Given the description of an element on the screen output the (x, y) to click on. 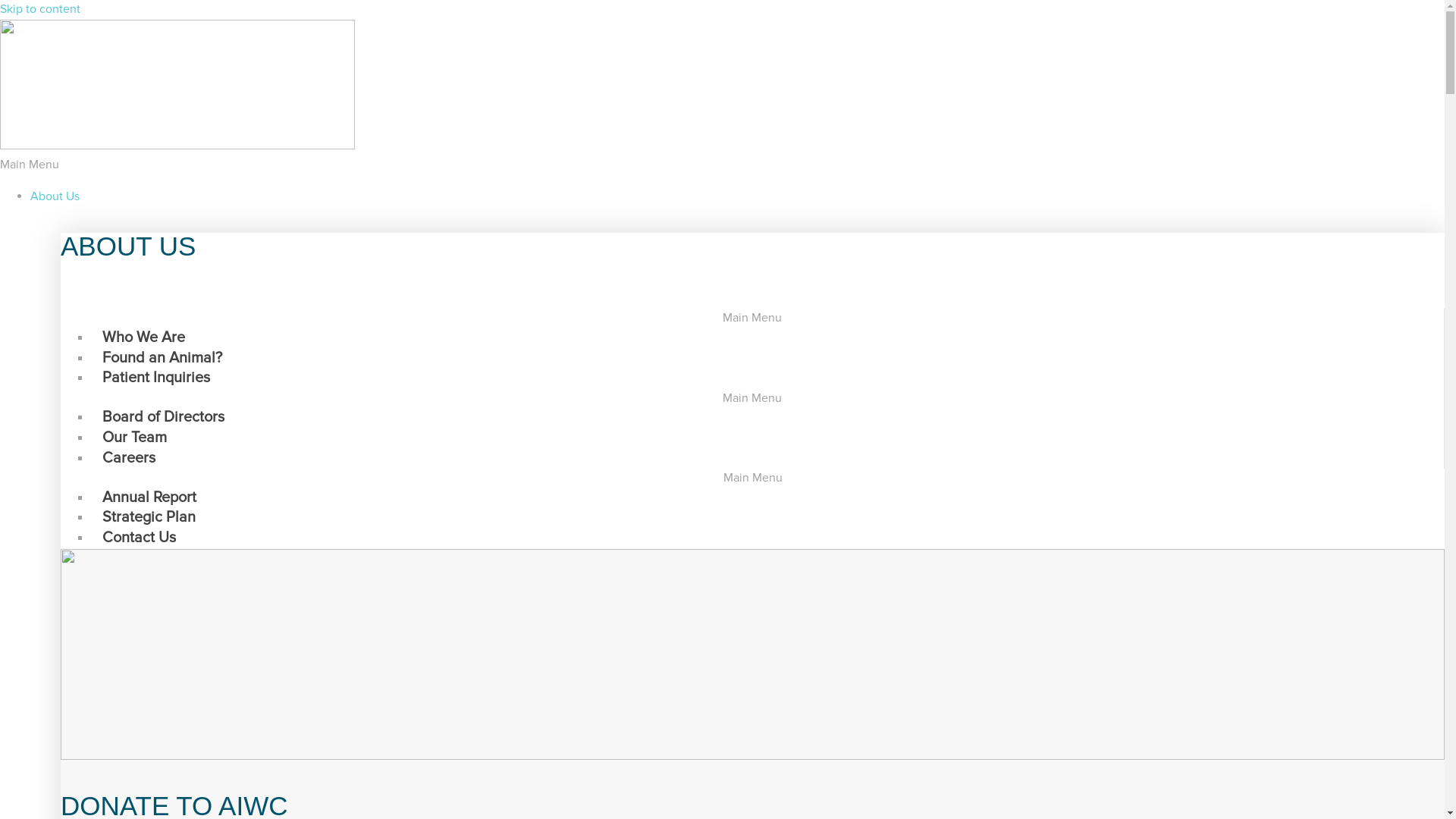
Strategic Plan Element type: text (149, 516)
Contact Us Element type: text (139, 537)
Our Team Element type: text (134, 437)
Skip to content Element type: text (40, 8)
Patient Inquiries Element type: text (156, 377)
Annual Report Element type: text (149, 496)
Careers Element type: text (128, 457)
About Us Element type: text (54, 195)
Board of Directors Element type: text (163, 416)
Who We Are Element type: text (143, 336)
Found an Animal? Element type: text (162, 357)
